Given the description of an element on the screen output the (x, y) to click on. 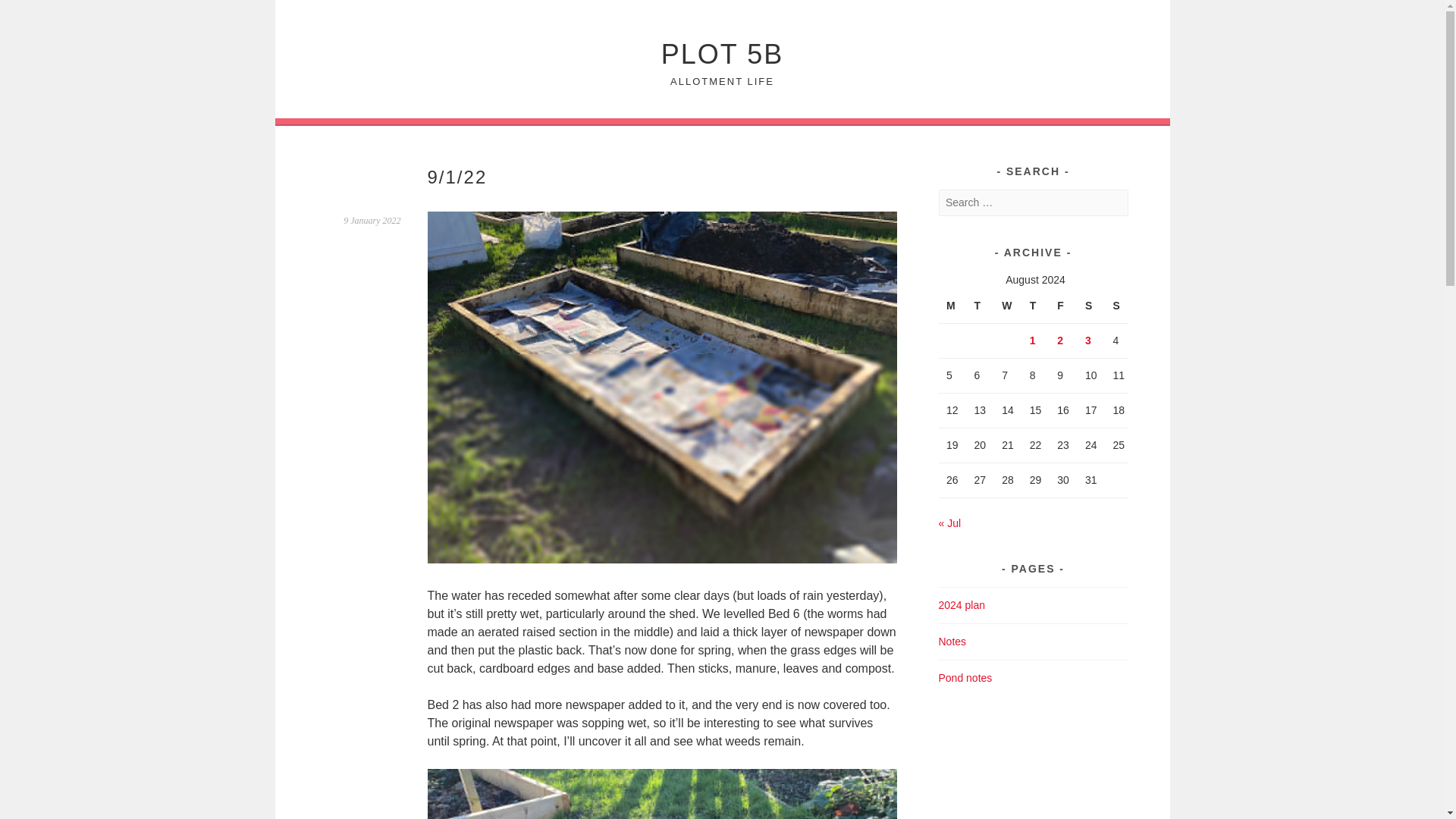
Notes (952, 641)
Pond notes (965, 677)
Plot 5B (722, 53)
2024 plan (962, 604)
PLOT 5B (722, 53)
Search (30, 13)
9 January 2022 (371, 220)
